Given the description of an element on the screen output the (x, y) to click on. 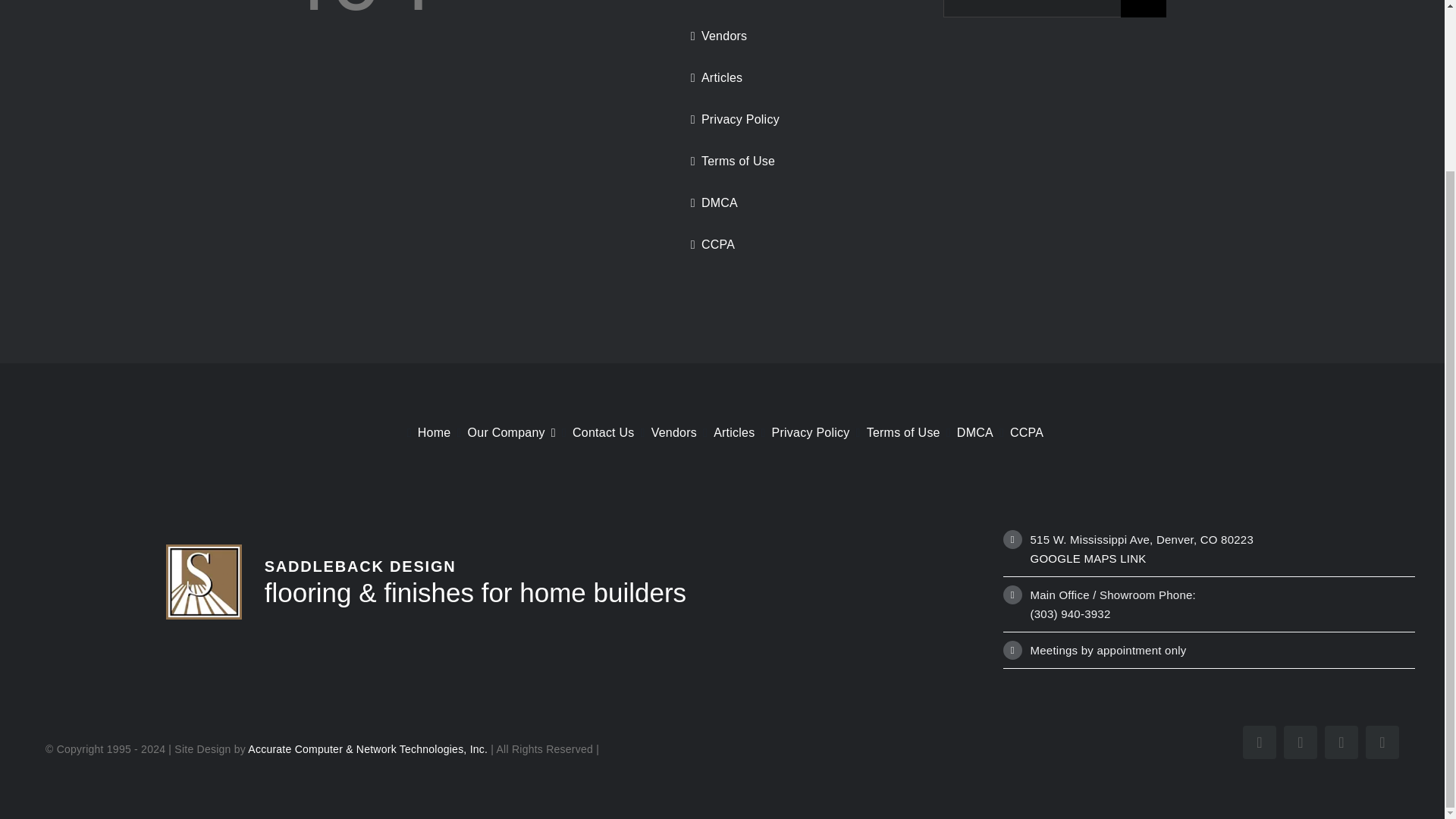
Terms of Use (795, 161)
Articles (795, 78)
DMCA (966, 432)
DMCA (795, 203)
GOOGLE MAPS LINK (1088, 558)
Vendors (795, 36)
Privacy Policy (802, 432)
CCPA (1017, 432)
Our Company (501, 432)
CCPA (795, 245)
Contact Us (595, 432)
Vendors (665, 432)
Contact Us (795, 4)
Saddleback Design (204, 582)
Home (426, 432)
